Given the description of an element on the screen output the (x, y) to click on. 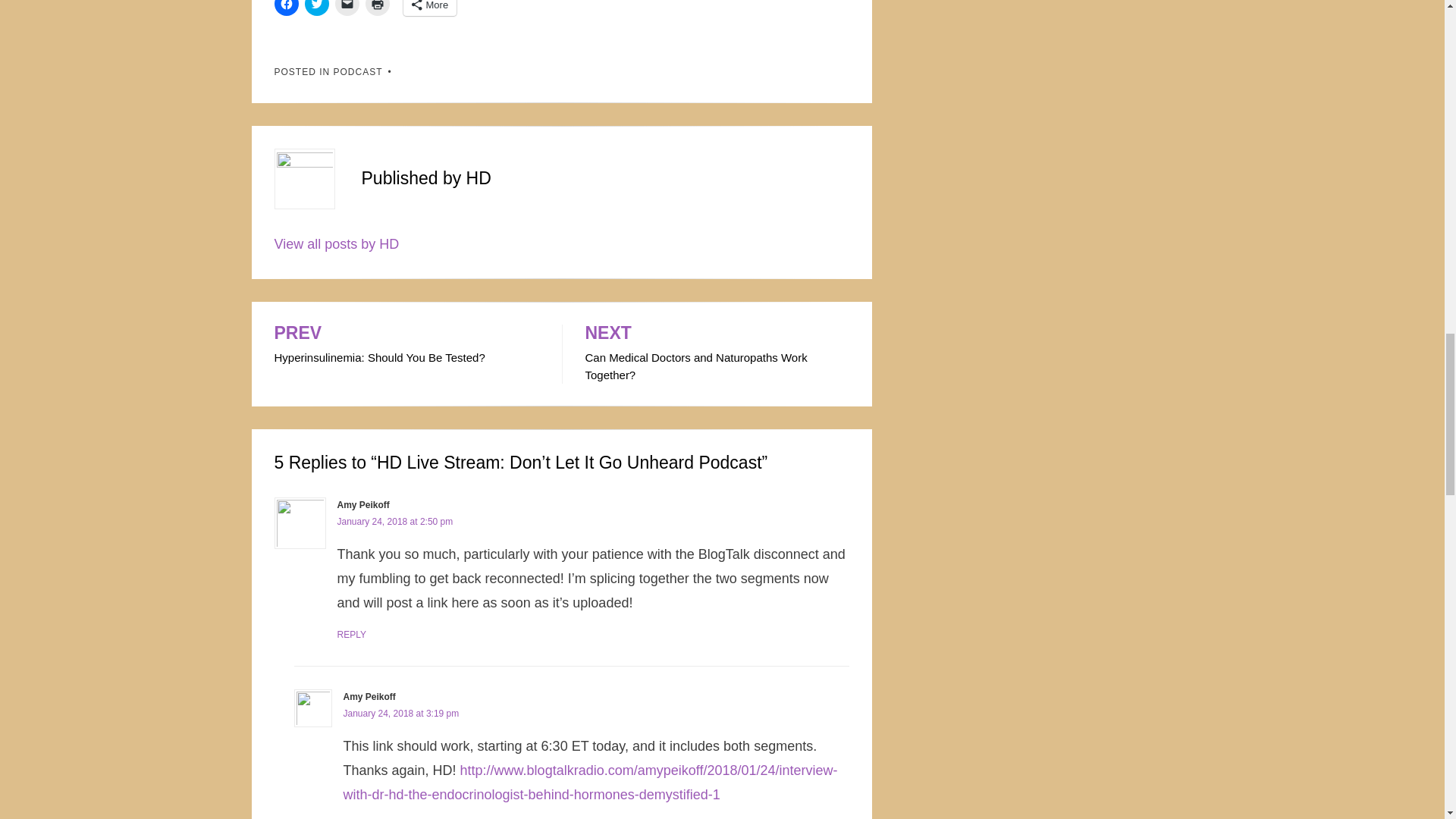
Click to print (377, 7)
PODCAST (357, 71)
More (716, 354)
Click to share on Twitter (406, 345)
Amy Peikoff (430, 7)
View all posts by HD (316, 7)
Click to share on Facebook (362, 504)
REPLY (336, 243)
January 24, 2018 at 2:50 pm (286, 7)
Click to email a link to a friend (350, 634)
Amy Peikoff (394, 521)
January 24, 2018 at 3:19 pm (346, 7)
